Given the description of an element on the screen output the (x, y) to click on. 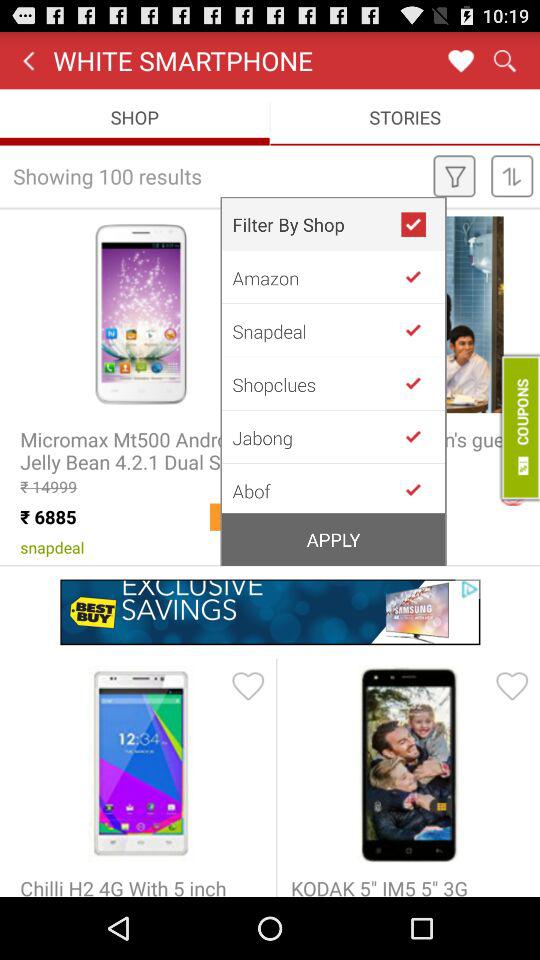
select shop (421, 276)
